Given the description of an element on the screen output the (x, y) to click on. 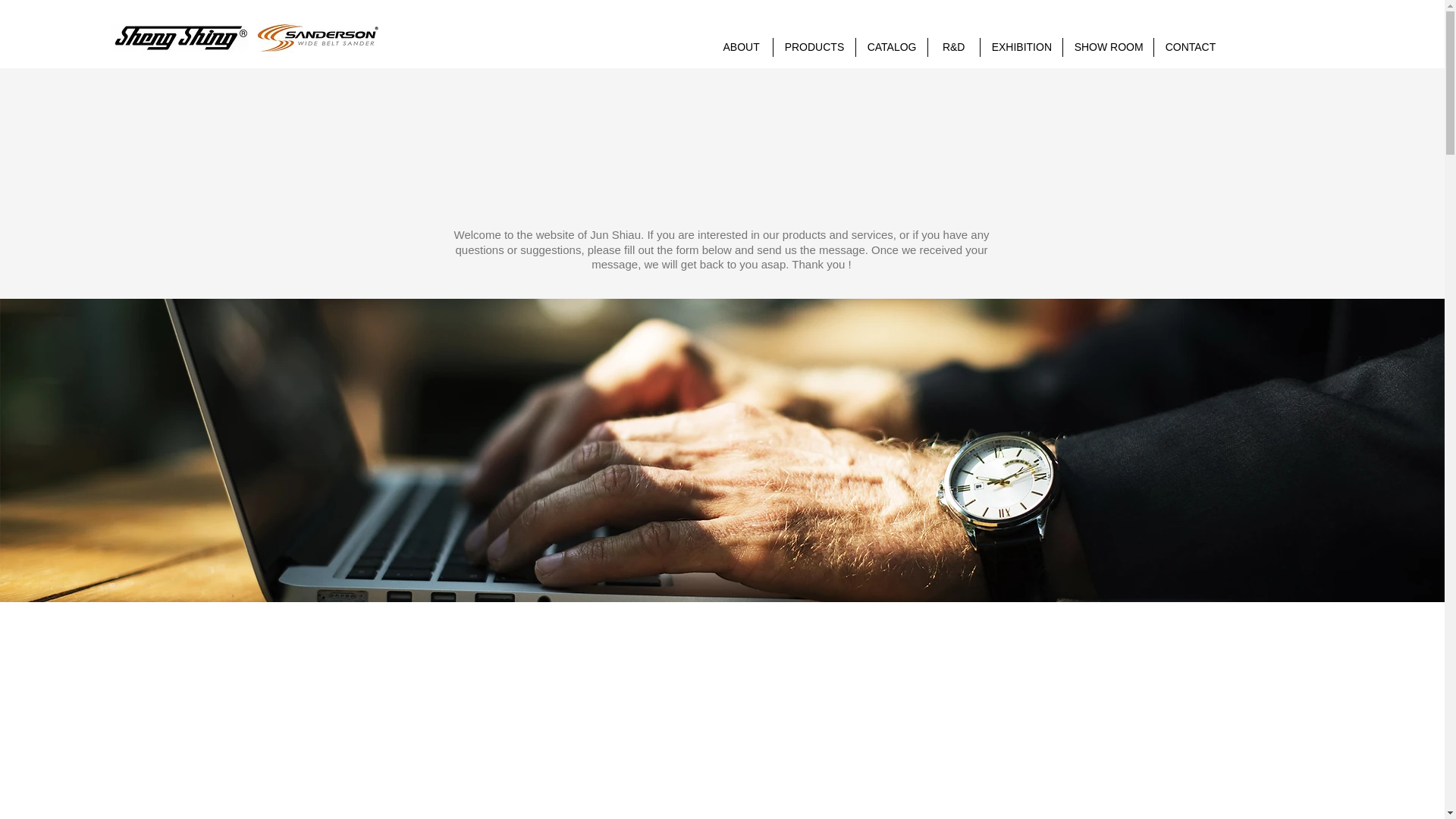
SHOW ROOM (1107, 46)
PRODUCTS (814, 46)
CONTACT (1189, 46)
CATALOG (891, 46)
EXHIBITION (1020, 46)
